Given the description of an element on the screen output the (x, y) to click on. 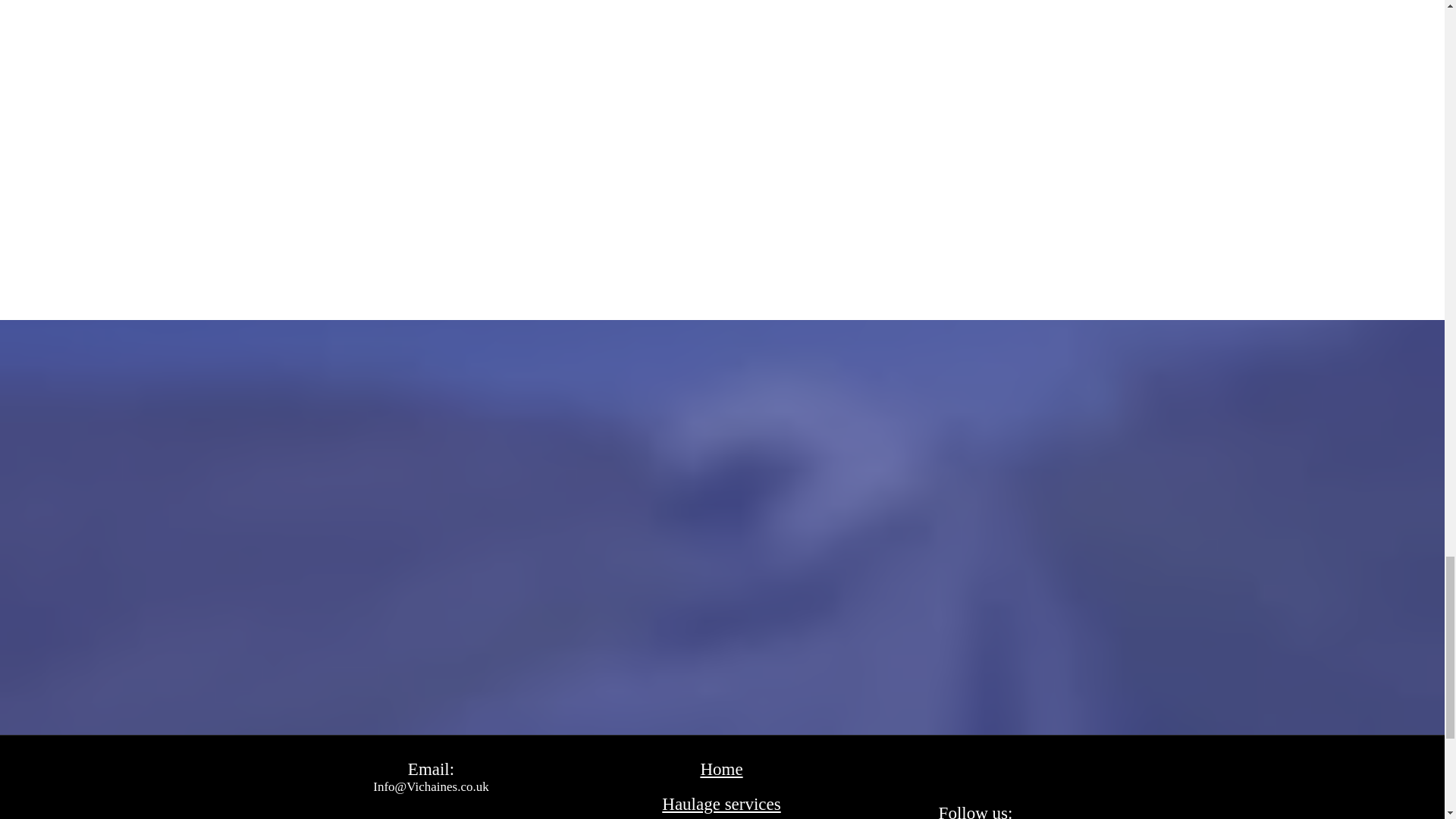
Home (721, 769)
Haulage services (721, 804)
